Given the description of an element on the screen output the (x, y) to click on. 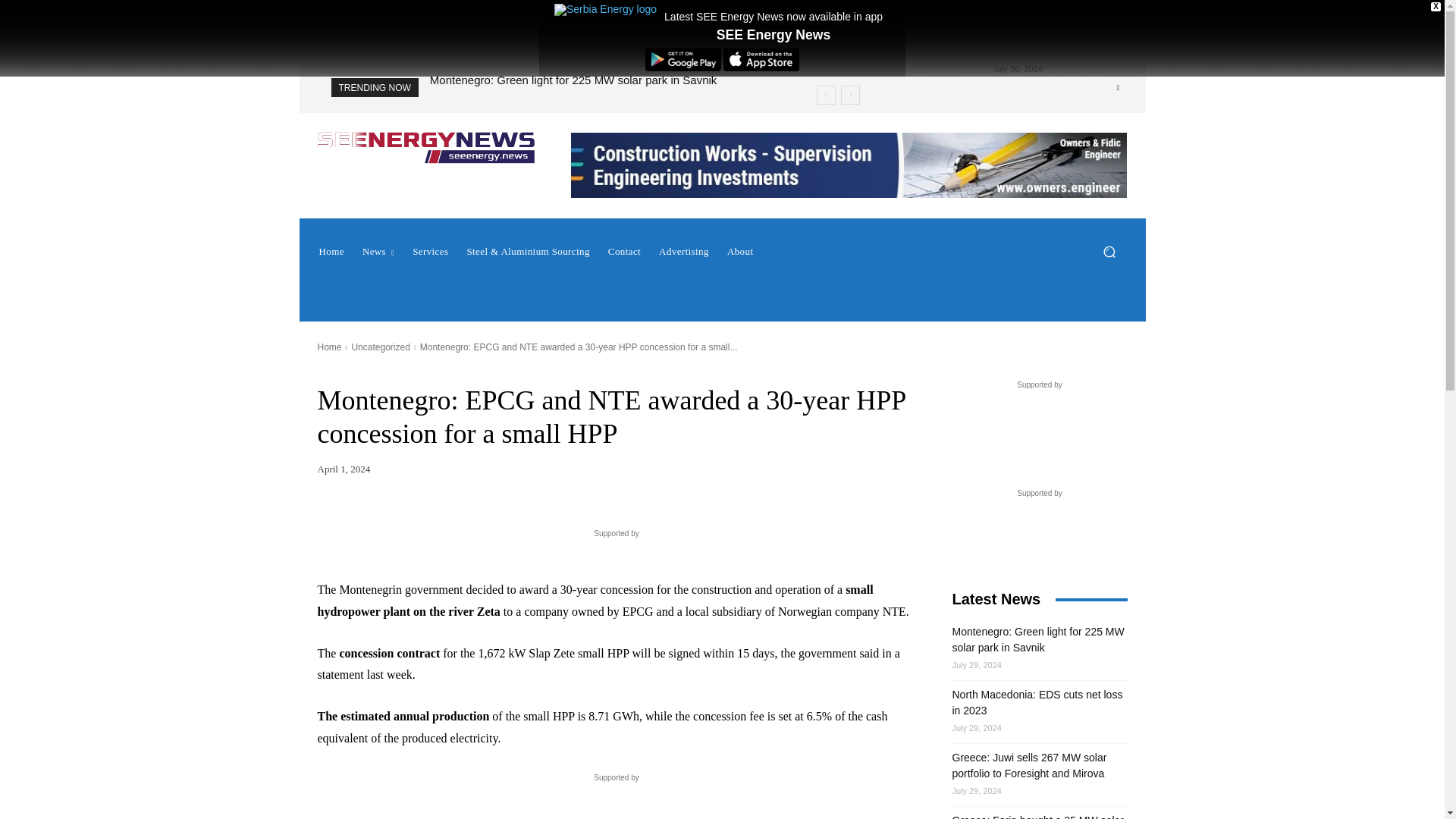
News (378, 251)
Montenegro: Green light for 225 MW solar park in Savnik (573, 79)
Contact (623, 251)
Montenegro: Green light for 225 MW solar park in Savnik (573, 79)
SEE Energy News for region of South and South East Europe (425, 147)
Linkedin (1117, 87)
Home (330, 251)
Advertising (683, 251)
About (739, 251)
Services (430, 251)
